Given the description of an element on the screen output the (x, y) to click on. 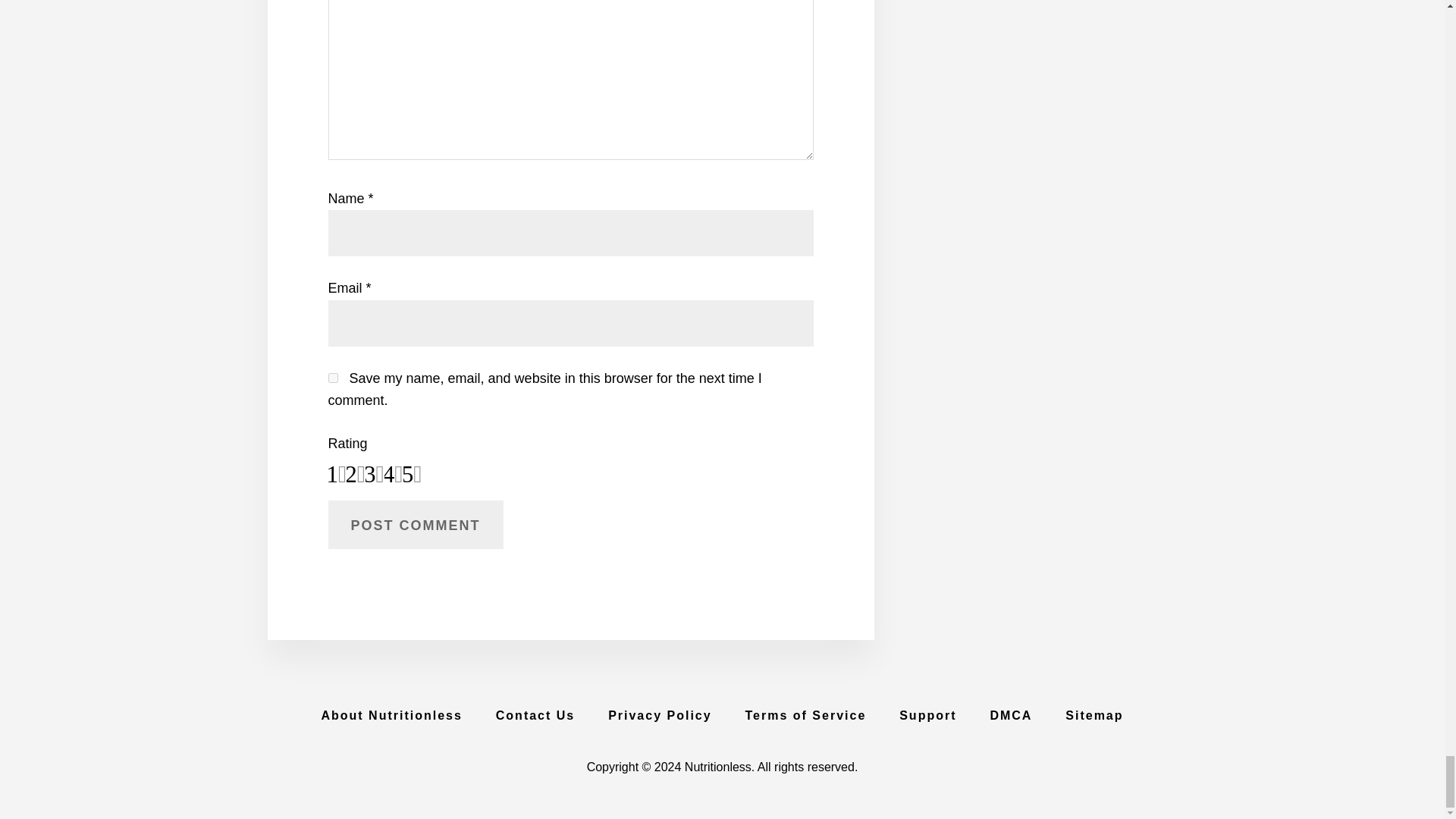
Post Comment (414, 524)
yes (332, 378)
